Given the description of an element on the screen output the (x, y) to click on. 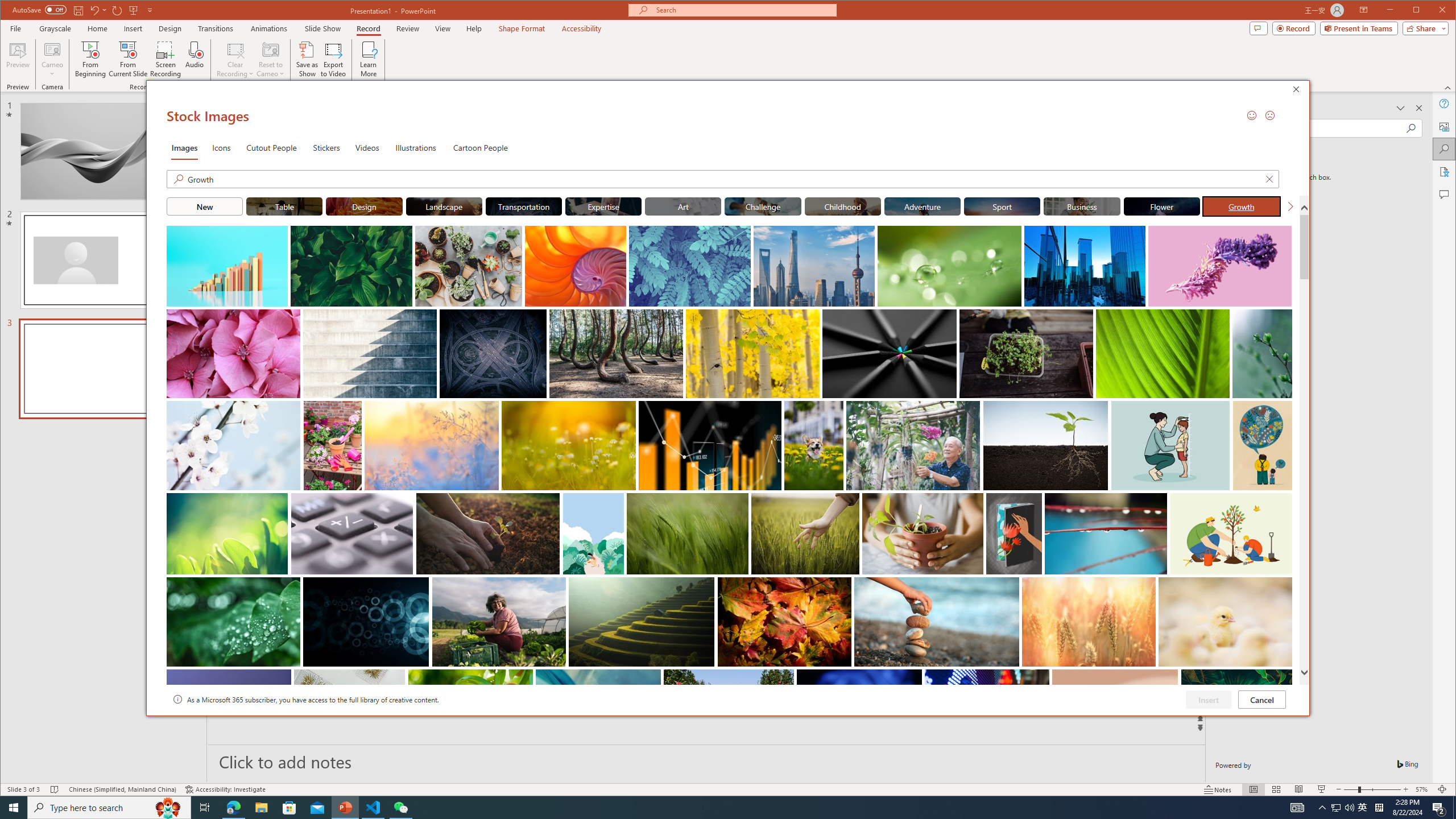
"Flower" Stock Images. (1161, 206)
Zoom 57% (1422, 789)
Audio (194, 59)
Comments (1444, 194)
Clear text (1269, 178)
Redo (117, 9)
Review (407, 28)
